Given the description of an element on the screen output the (x, y) to click on. 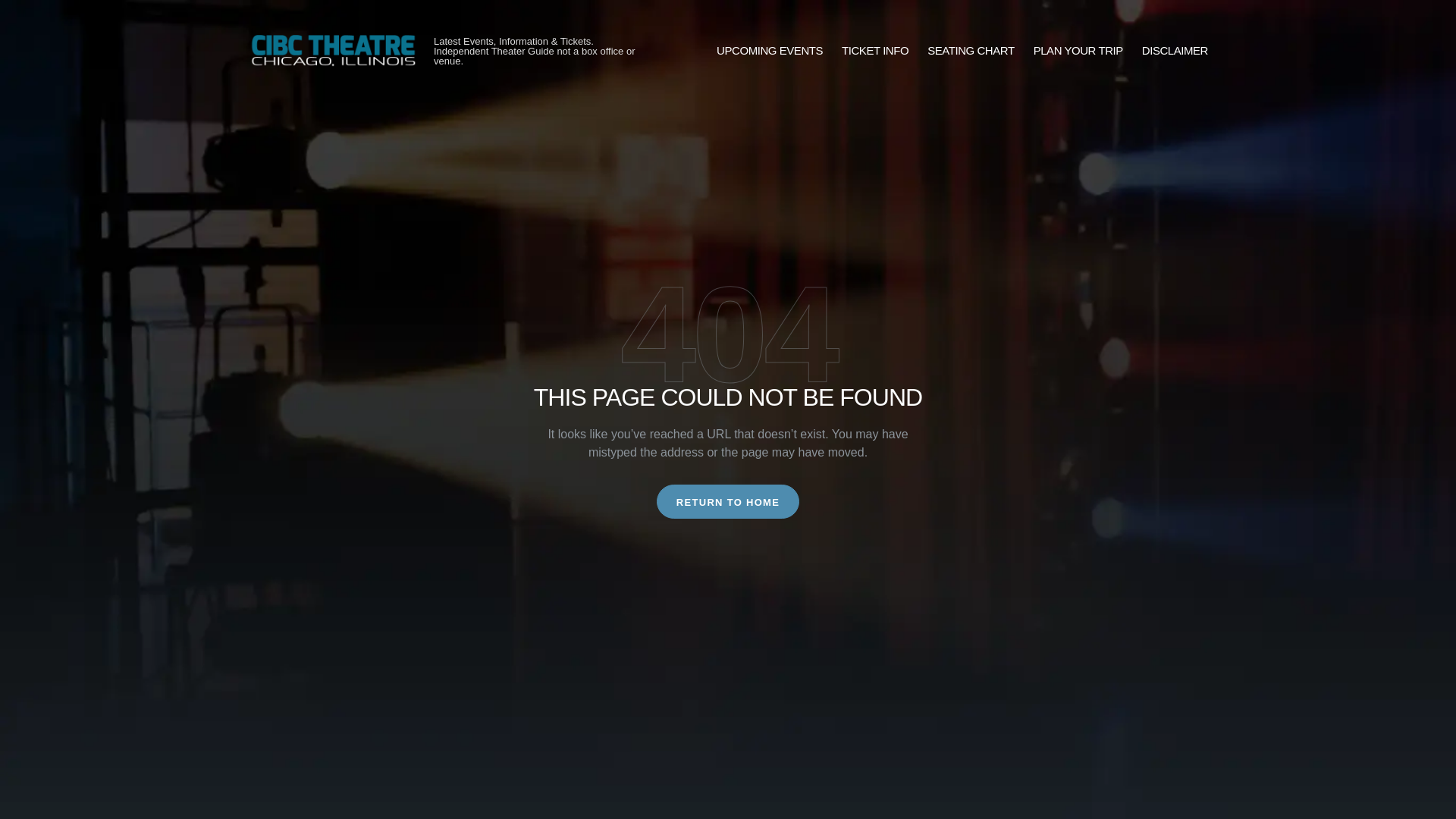
SEATING CHART (970, 50)
TICKET INFO (874, 50)
DISCLAIMER (1174, 50)
UPCOMING EVENTS (769, 50)
RETURN TO HOME (727, 501)
PLAN YOUR TRIP (1077, 50)
